Given the description of an element on the screen output the (x, y) to click on. 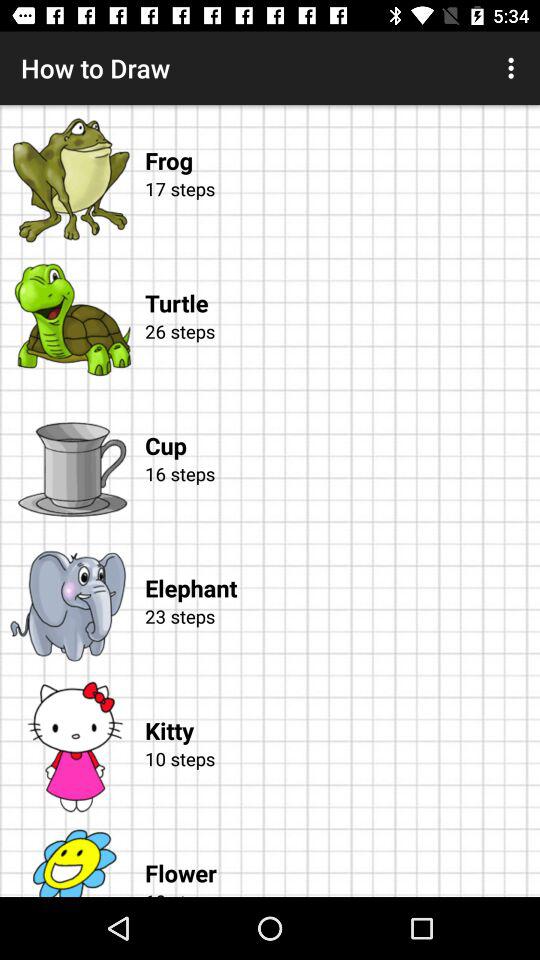
choose item below the 26 steps app (342, 425)
